Given the description of an element on the screen output the (x, y) to click on. 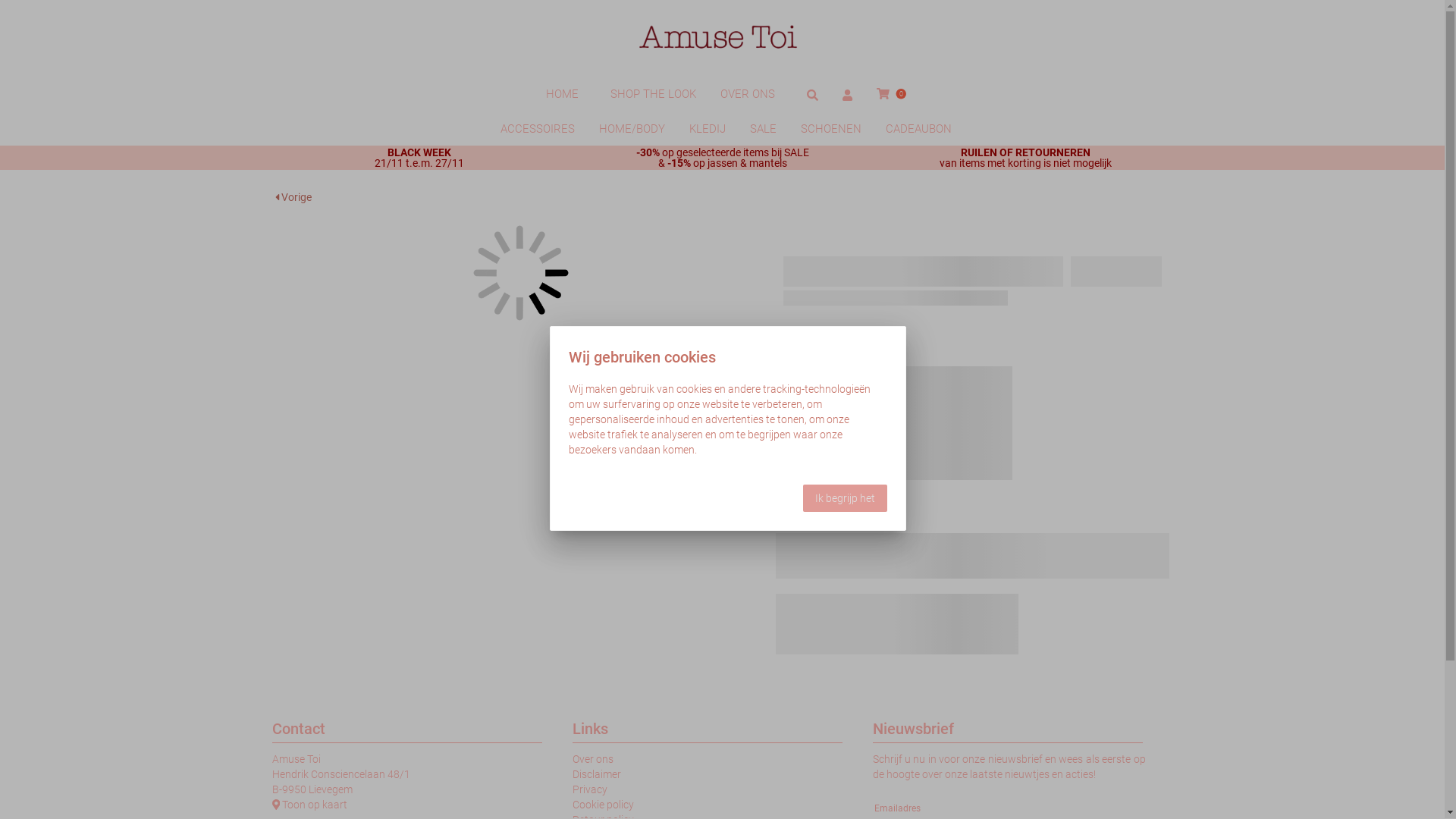
ACCESSOIRES Element type: text (537, 128)
SALE Element type: text (762, 128)
info@amusetoi.be Element type: text (327, 810)
KLEDIJ Element type: text (707, 128)
0 Element type: text (891, 93)
OVER ONS Element type: text (747, 93)
HOME/BODY Element type: text (631, 128)
HOME Element type: text (561, 93)
SCHOENEN Element type: text (830, 128)
SHOP THE LOOK Element type: text (653, 93)
Ik begrijp het Element type: text (845, 497)
CADEAUBON Element type: text (918, 128)
